Given the description of an element on the screen output the (x, y) to click on. 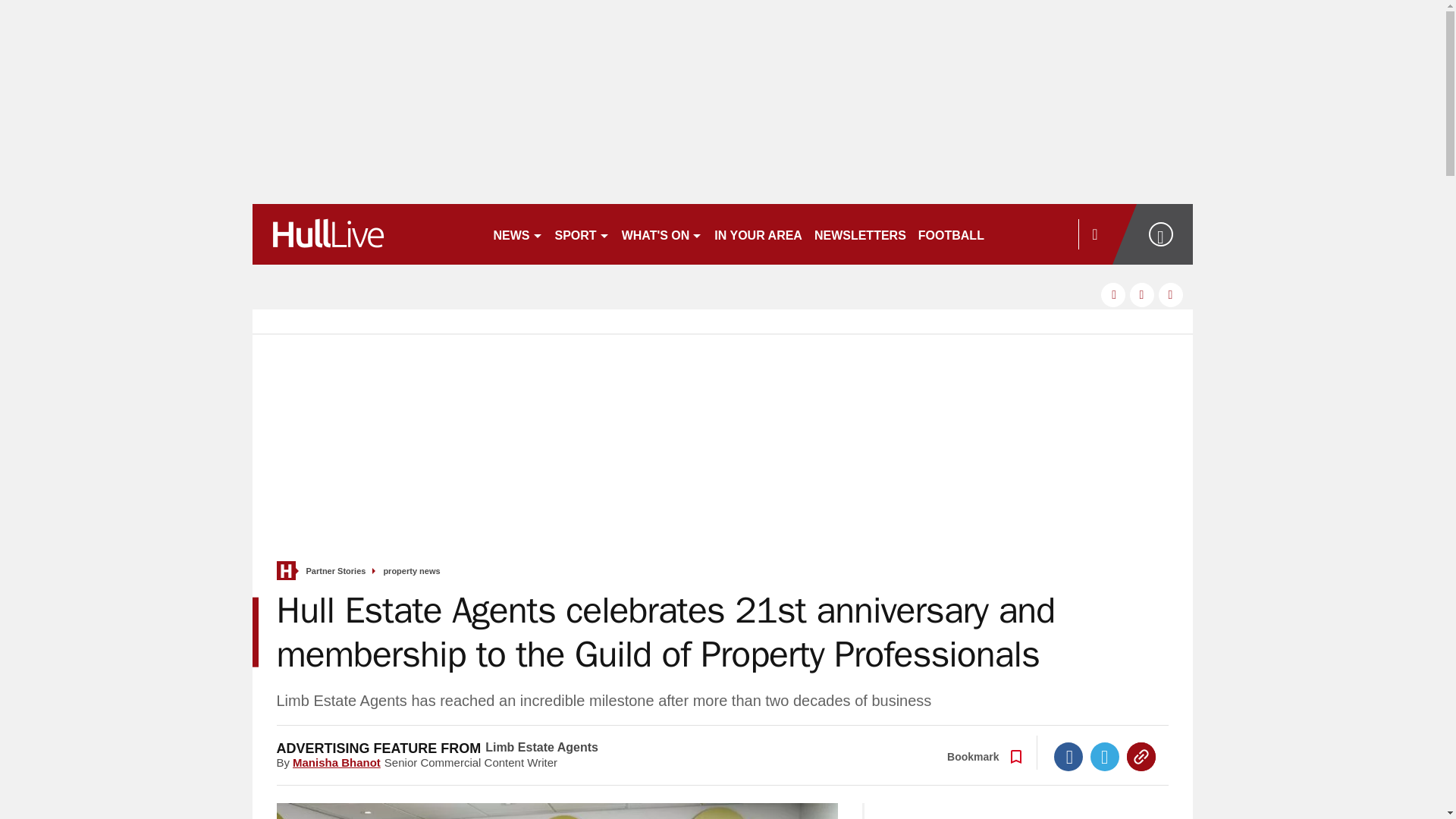
FOOTBALL (951, 233)
NEWSLETTERS (860, 233)
IN YOUR AREA (757, 233)
NEWS (517, 233)
instagram (1170, 294)
facebook (1112, 294)
twitter (1141, 294)
Twitter (1104, 756)
RUGBY LEAGUE (1045, 233)
SPORT (581, 233)
